Given the description of an element on the screen output the (x, y) to click on. 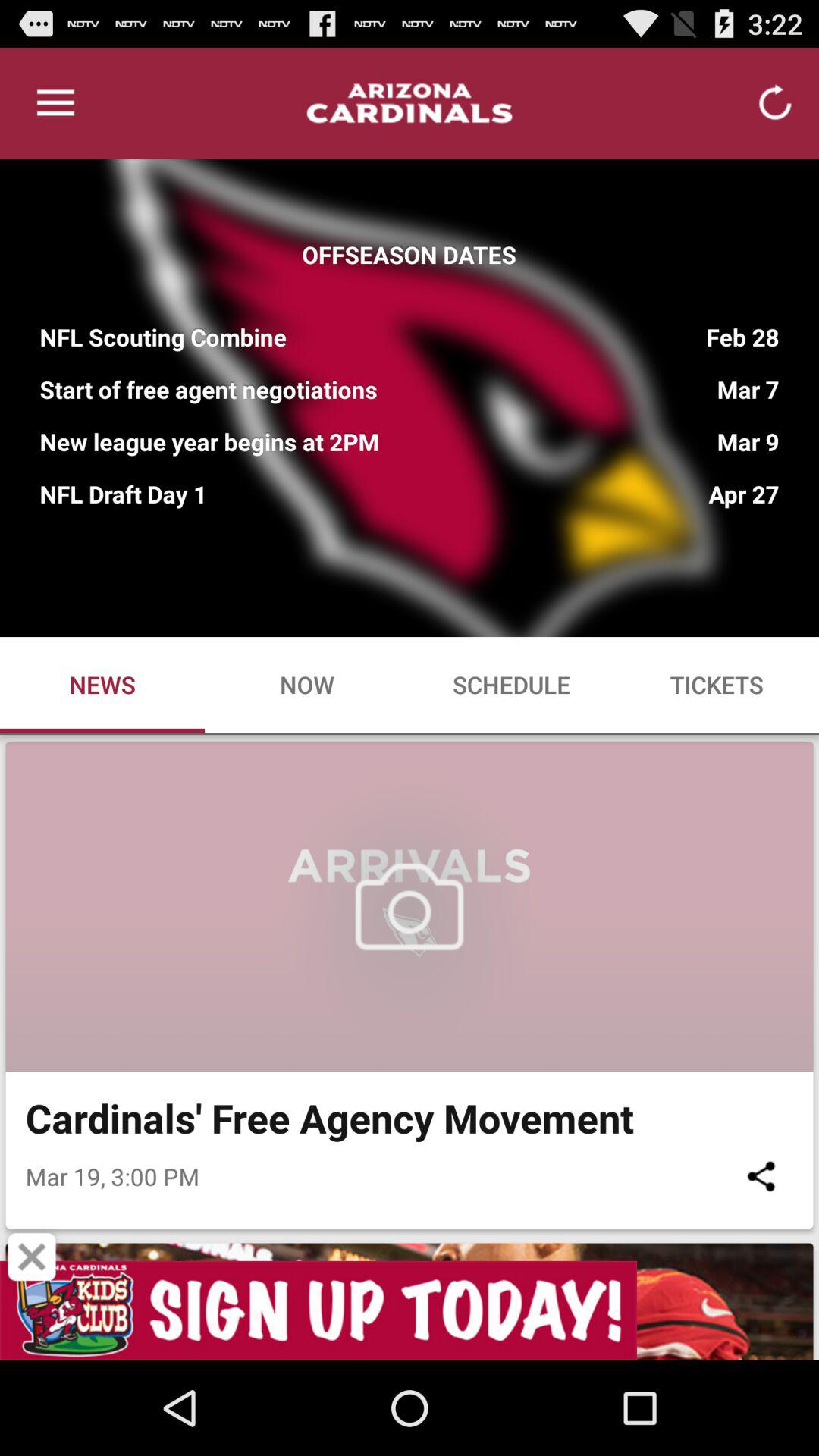
go to close (31, 1256)
